Given the description of an element on the screen output the (x, y) to click on. 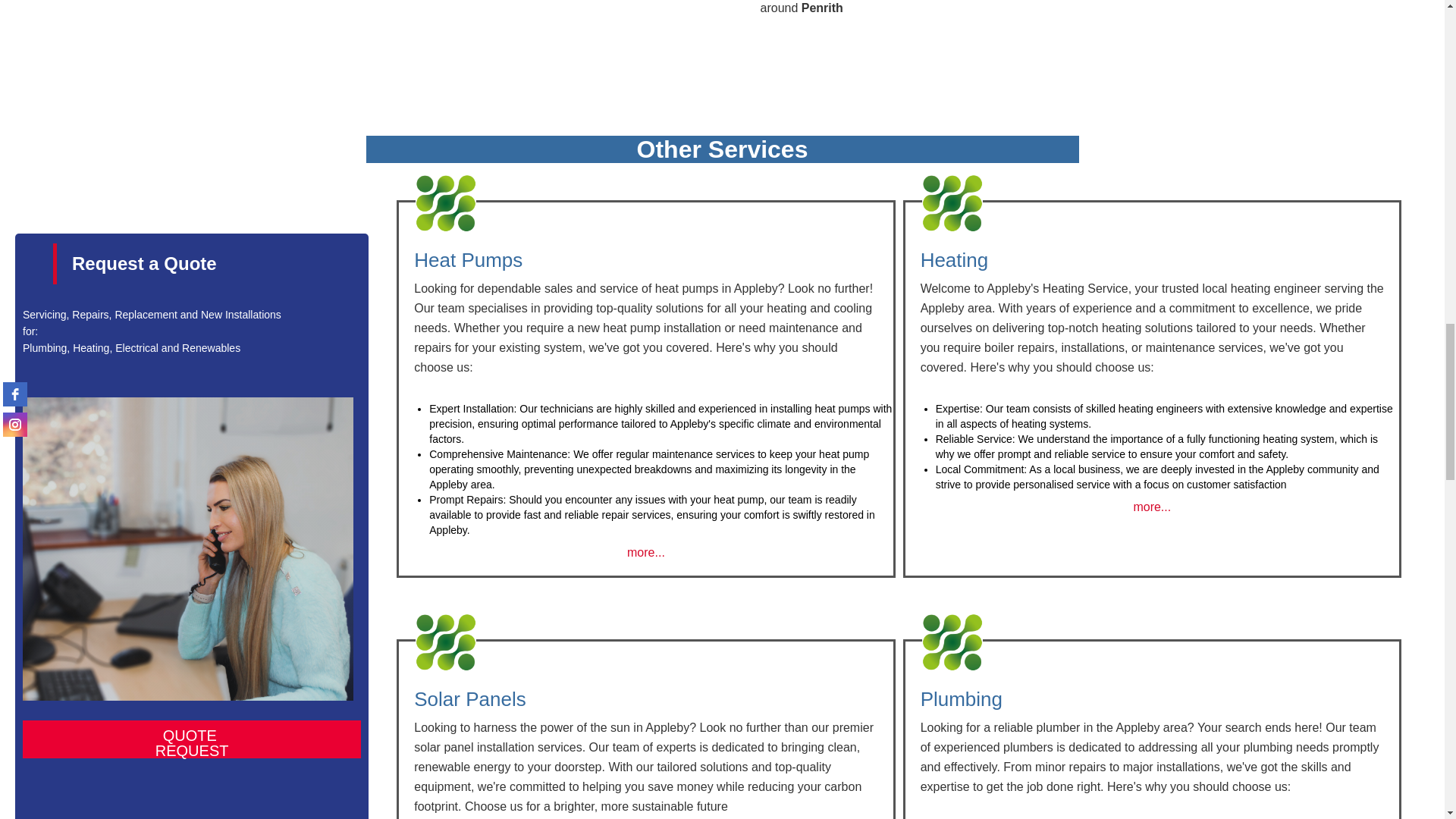
more... (192, 739)
more... (1151, 506)
